Given the description of an element on the screen output the (x, y) to click on. 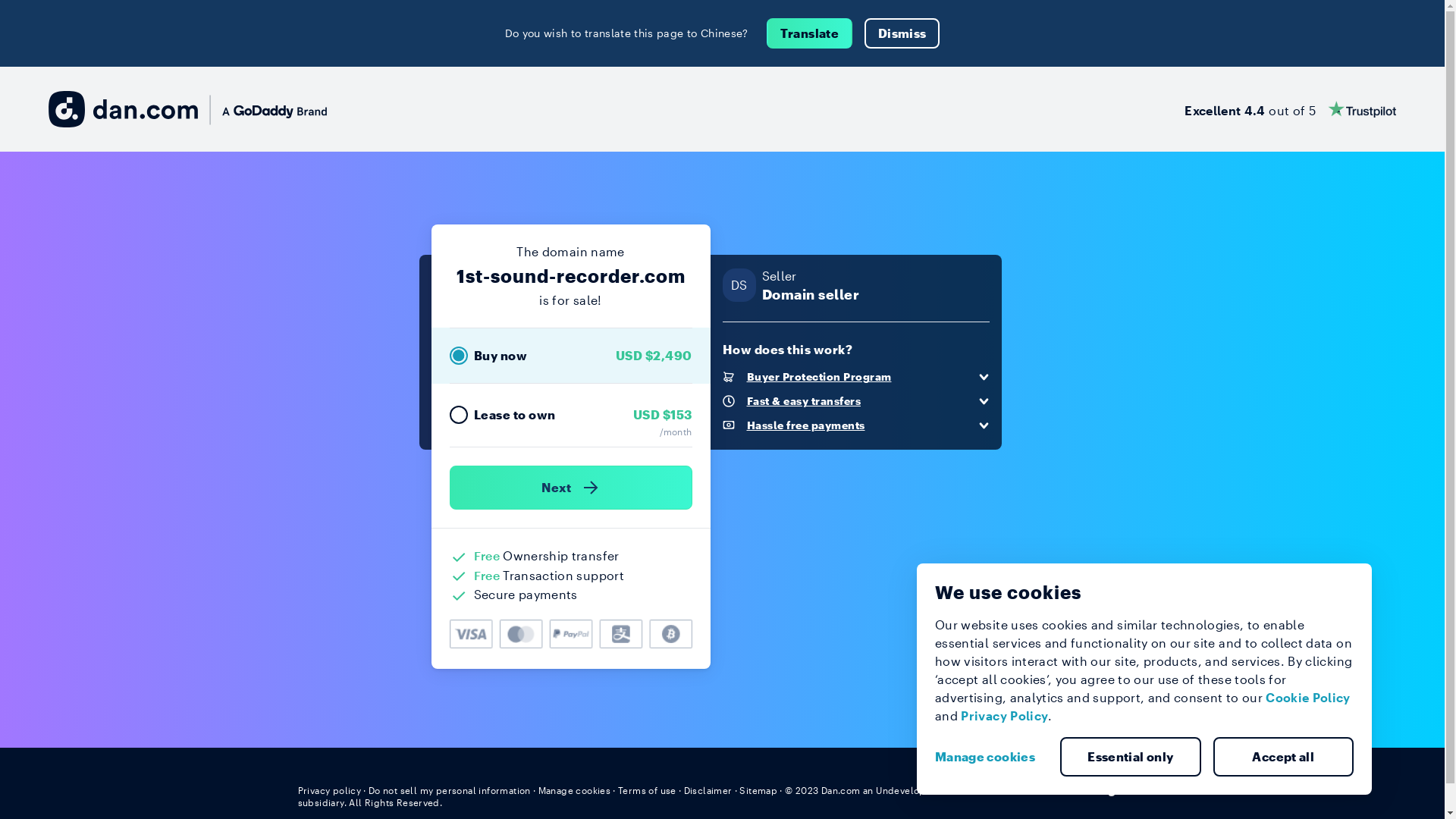
Accept all Element type: text (1283, 756)
Terms of use Element type: text (647, 789)
Privacy Policy Element type: text (1004, 715)
Dismiss Element type: text (901, 33)
Sitemap Element type: text (758, 789)
Do not sell my personal information Element type: text (449, 789)
Manage cookies Element type: text (991, 756)
Cookie Policy Element type: text (1307, 697)
Excellent 4.4 out of 5 Element type: text (1290, 109)
English Element type: text (1119, 789)
Privacy policy Element type: text (328, 789)
Essential only Element type: text (1130, 756)
Next
) Element type: text (569, 487)
Translate Element type: text (809, 33)
Manage cookies Element type: text (574, 790)
Disclaimer Element type: text (708, 789)
